Given the description of an element on the screen output the (x, y) to click on. 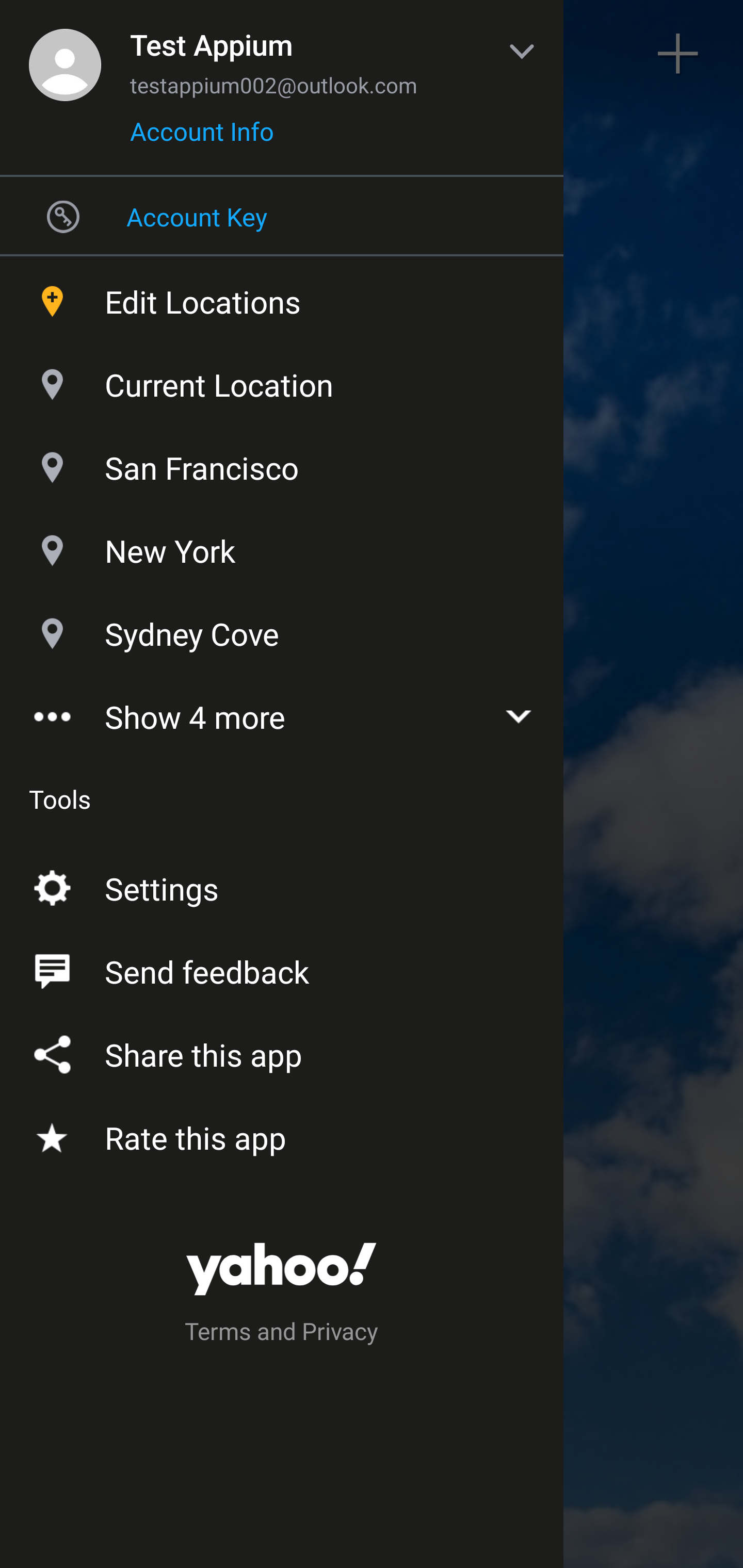
Sidebar (64, 54)
Account Info (202, 137)
Account Key (281, 216)
Edit Locations (281, 296)
Current Location (281, 379)
San Francisco (281, 462)
New York (281, 546)
Sydney Cove (281, 629)
Settings (281, 884)
Send feedback (281, 967)
Share this app (281, 1050)
Terms and Privacy Terms and privacy button (281, 1334)
